Given the description of an element on the screen output the (x, y) to click on. 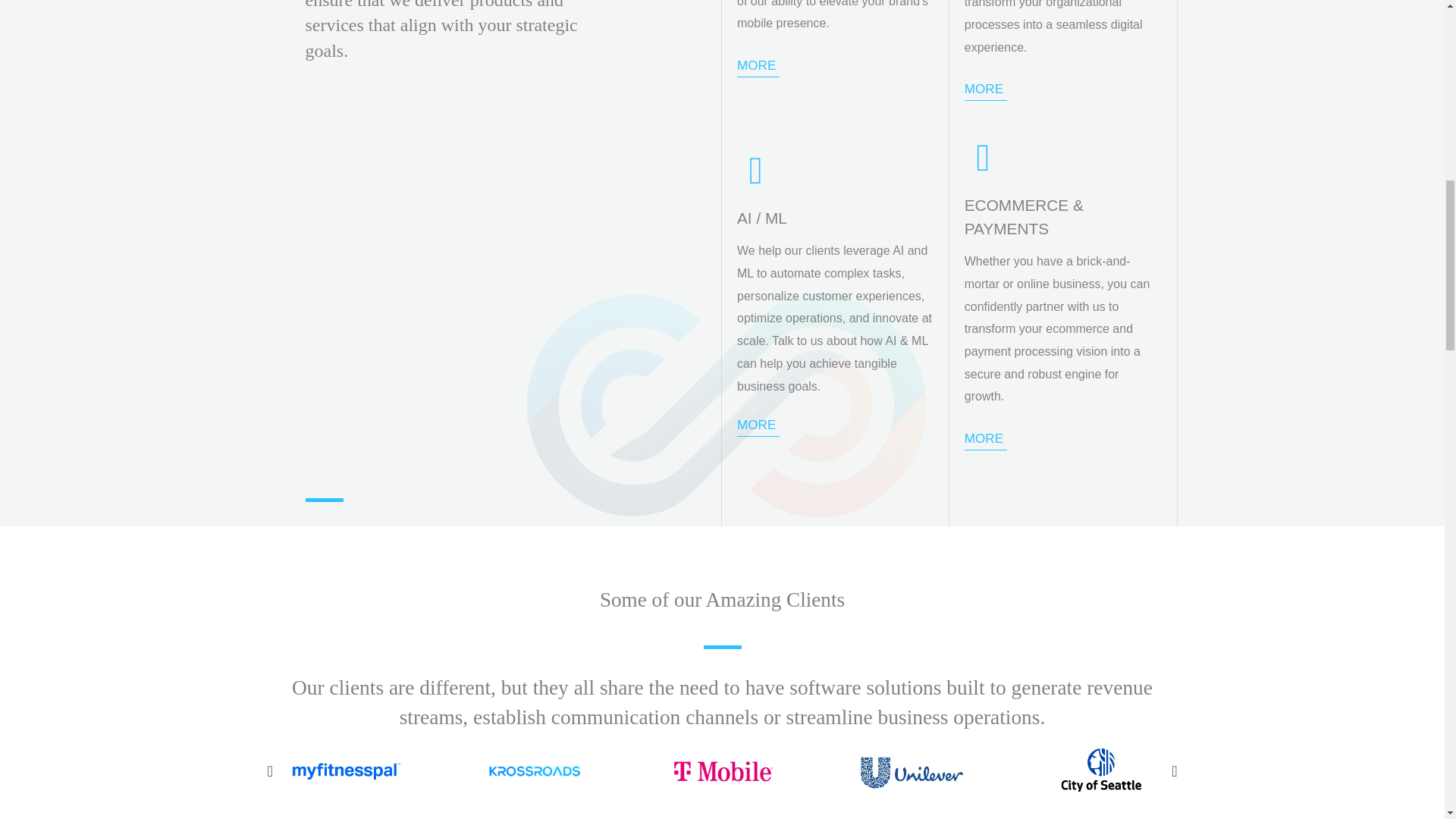
MORE (985, 438)
MORE (985, 88)
MORE (757, 65)
MORE (757, 425)
